Given the description of an element on the screen output the (x, y) to click on. 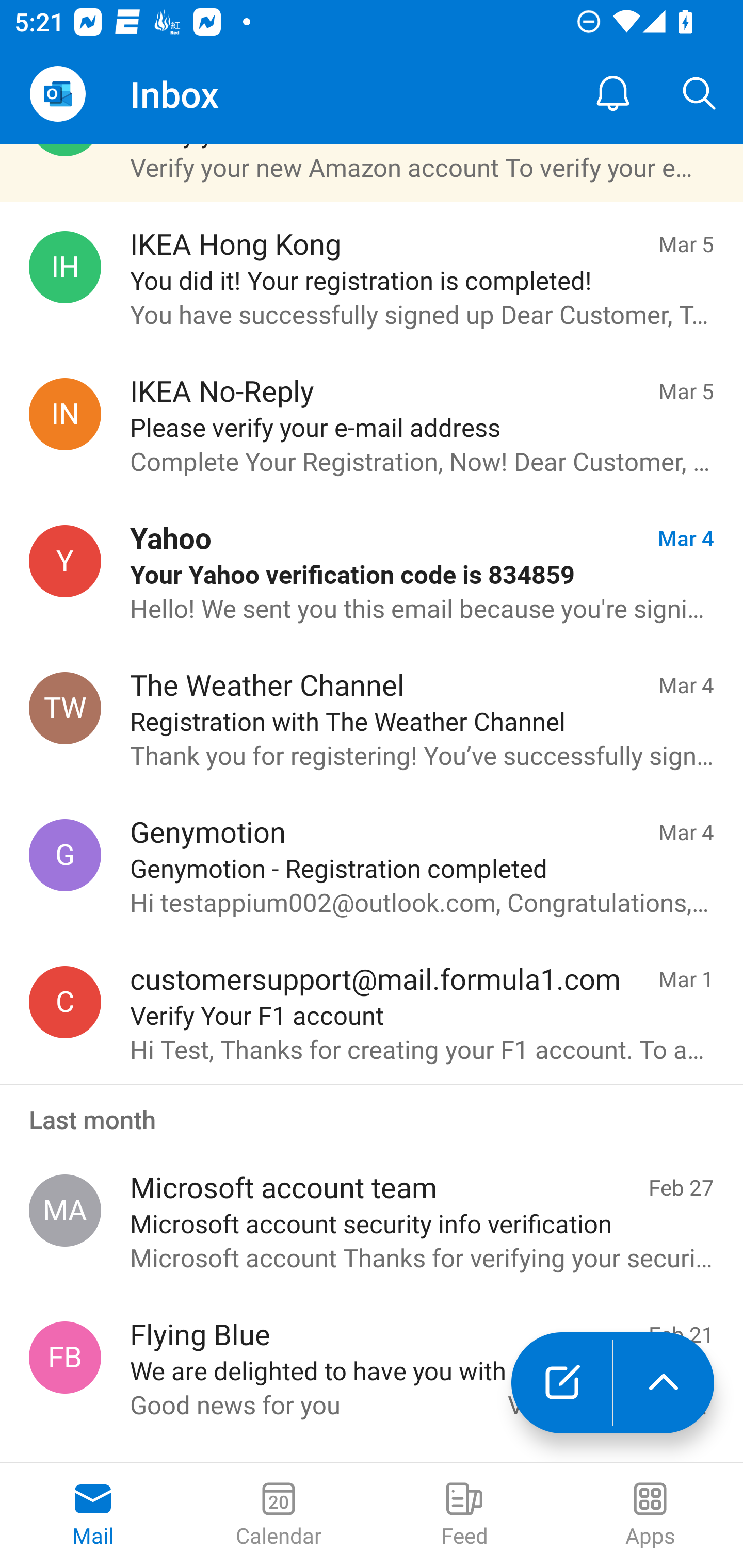
Notification Center (612, 93)
Search, ,  (699, 93)
Open Navigation Drawer (57, 94)
IKEA Hong Kong, IKHK_AWS@ikea.com.hk (64, 266)
IKEA No-Reply, noreply@ikea.com.hk (64, 413)
Yahoo, no-reply@cc.yahoo-inc.com (64, 561)
The Weather Channel, noreply@weather.com (64, 708)
Genymotion, genymotion-activation@genymobile.com (64, 854)
Flying Blue, do_not_reply@info-flyingblue.com (64, 1357)
New mail (561, 1382)
launch the extended action menu (663, 1382)
Calendar (278, 1515)
Feed (464, 1515)
Apps (650, 1515)
